Given the description of an element on the screen output the (x, y) to click on. 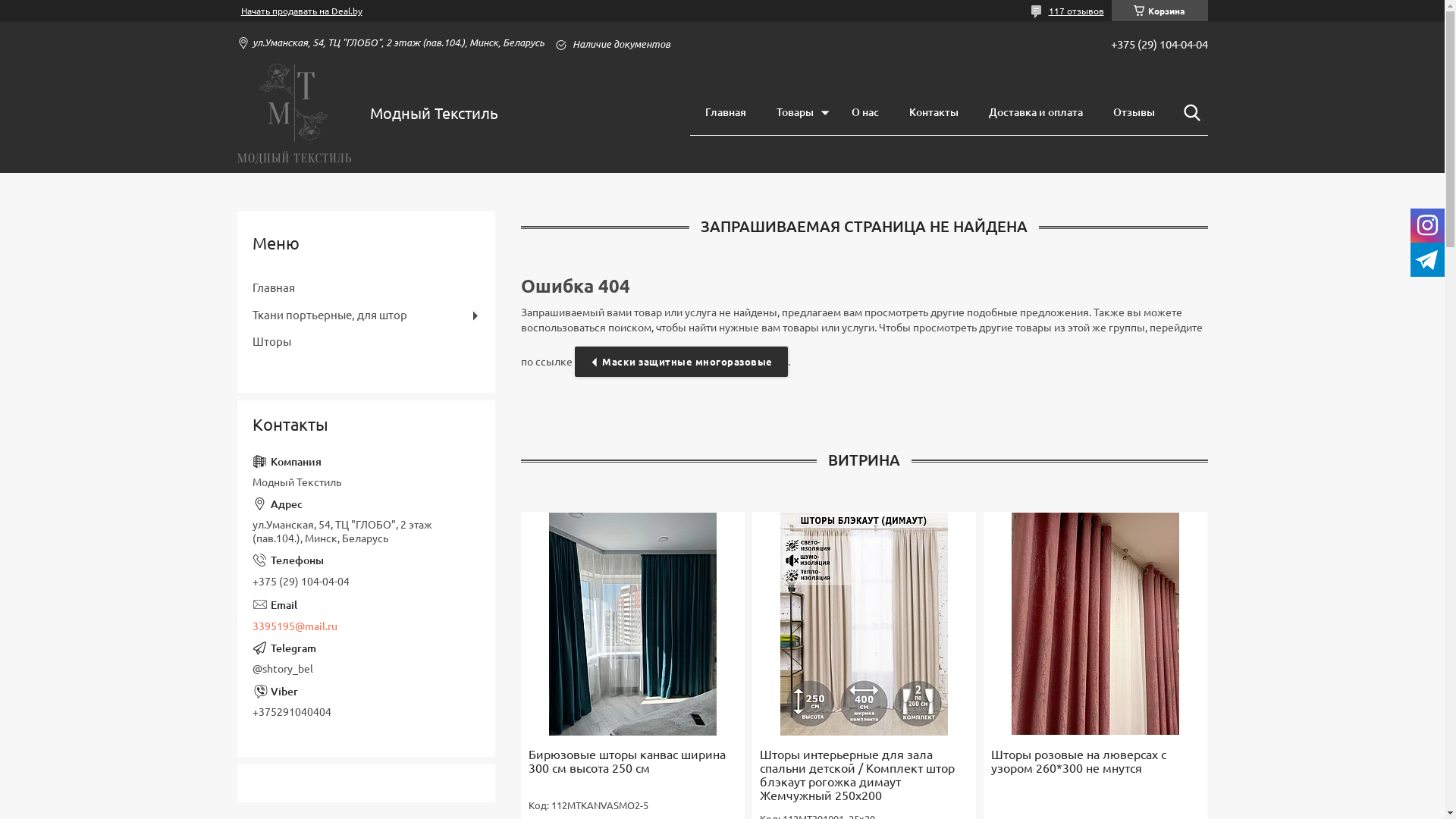
3395195@mail.ru Element type: text (365, 613)
